Given the description of an element on the screen output the (x, y) to click on. 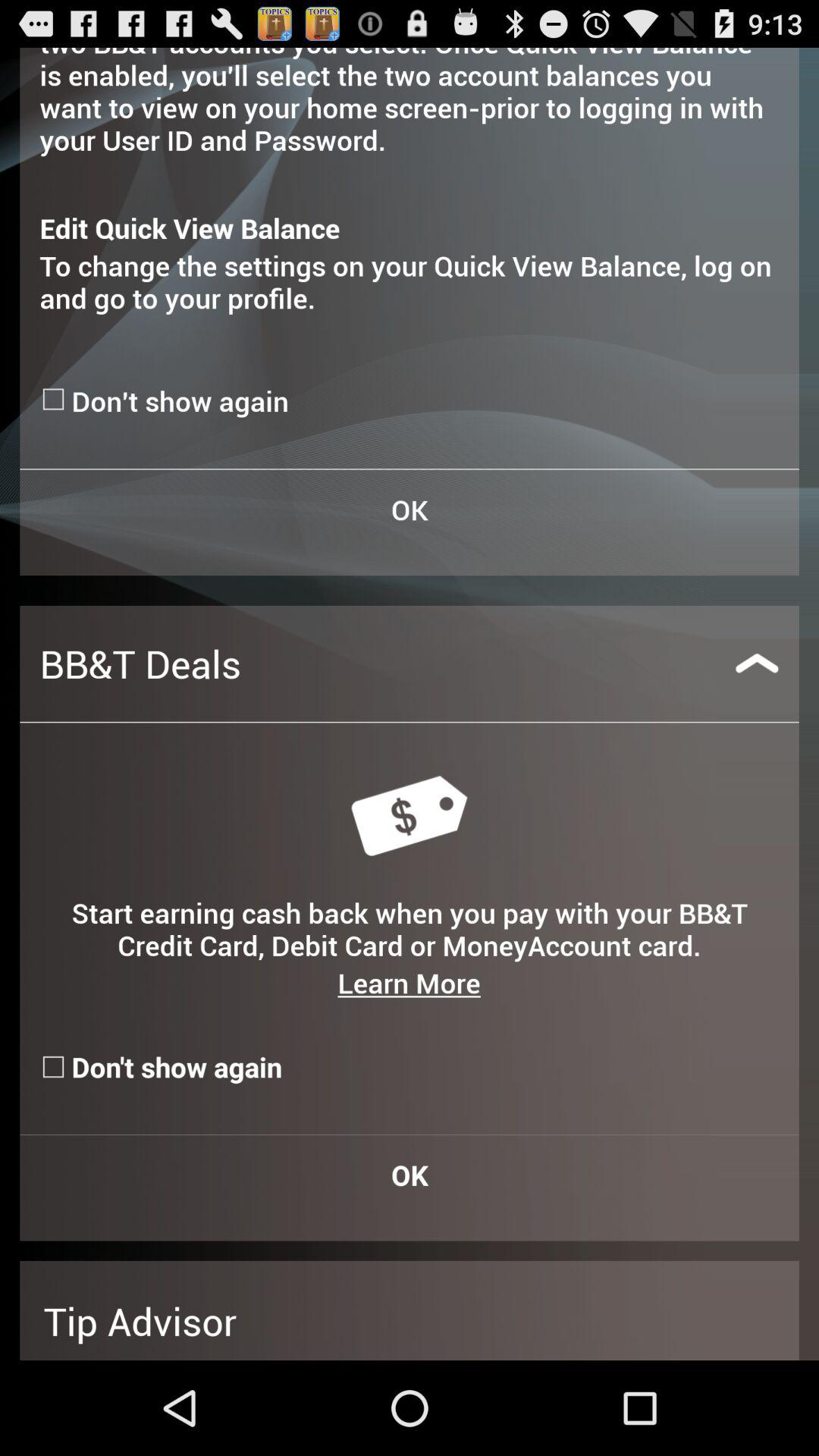
launch icon to the left of don t show icon (55, 398)
